Given the description of an element on the screen output the (x, y) to click on. 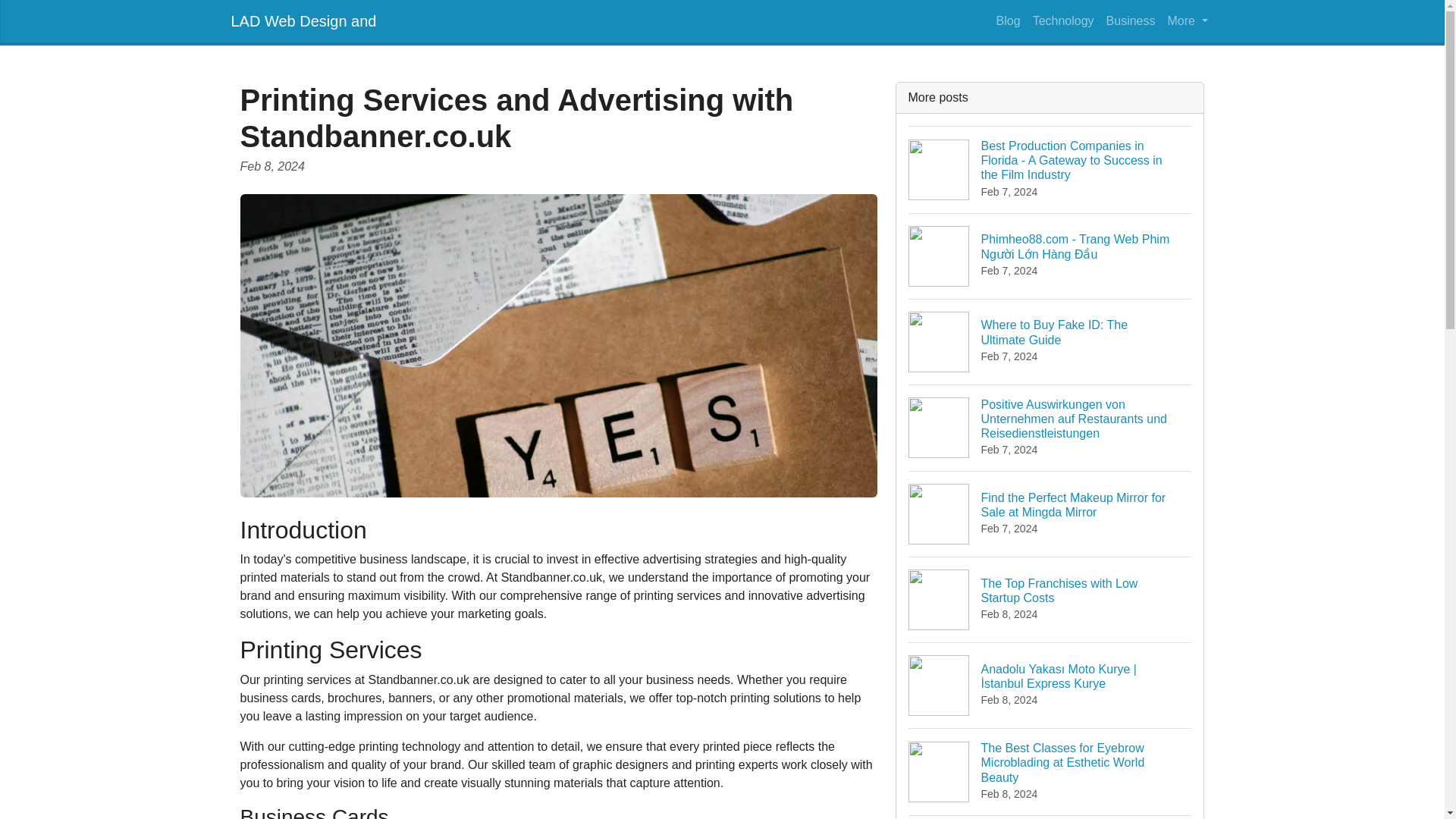
Business (1050, 341)
Technology (1130, 20)
LAD Web Design and (1050, 599)
Blog (1063, 20)
